Given the description of an element on the screen output the (x, y) to click on. 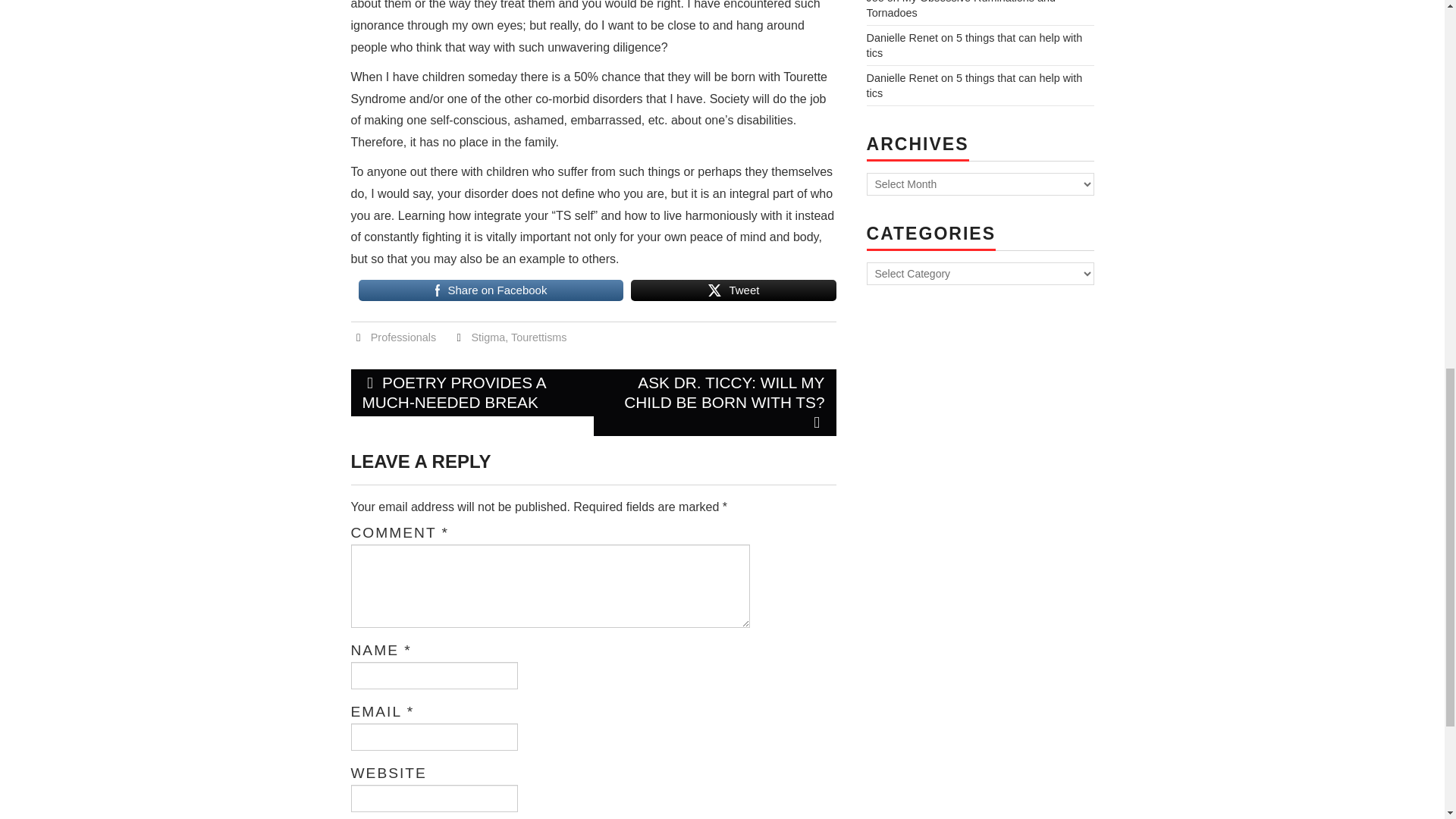
5 things that can help with tics (973, 44)
POETRY PROVIDES A MUCH-NEEDED BREAK (471, 392)
5 things that can help with tics (973, 85)
Tweet (732, 290)
Professionals (403, 337)
Tourettisms (539, 337)
Stigma (487, 337)
ASK DR. TICCY: WILL MY CHILD BE BORN WITH TS? (713, 402)
Share on Facebook (490, 290)
My Obsessive Ruminations and Tornadoes (960, 9)
